Given the description of an element on the screen output the (x, y) to click on. 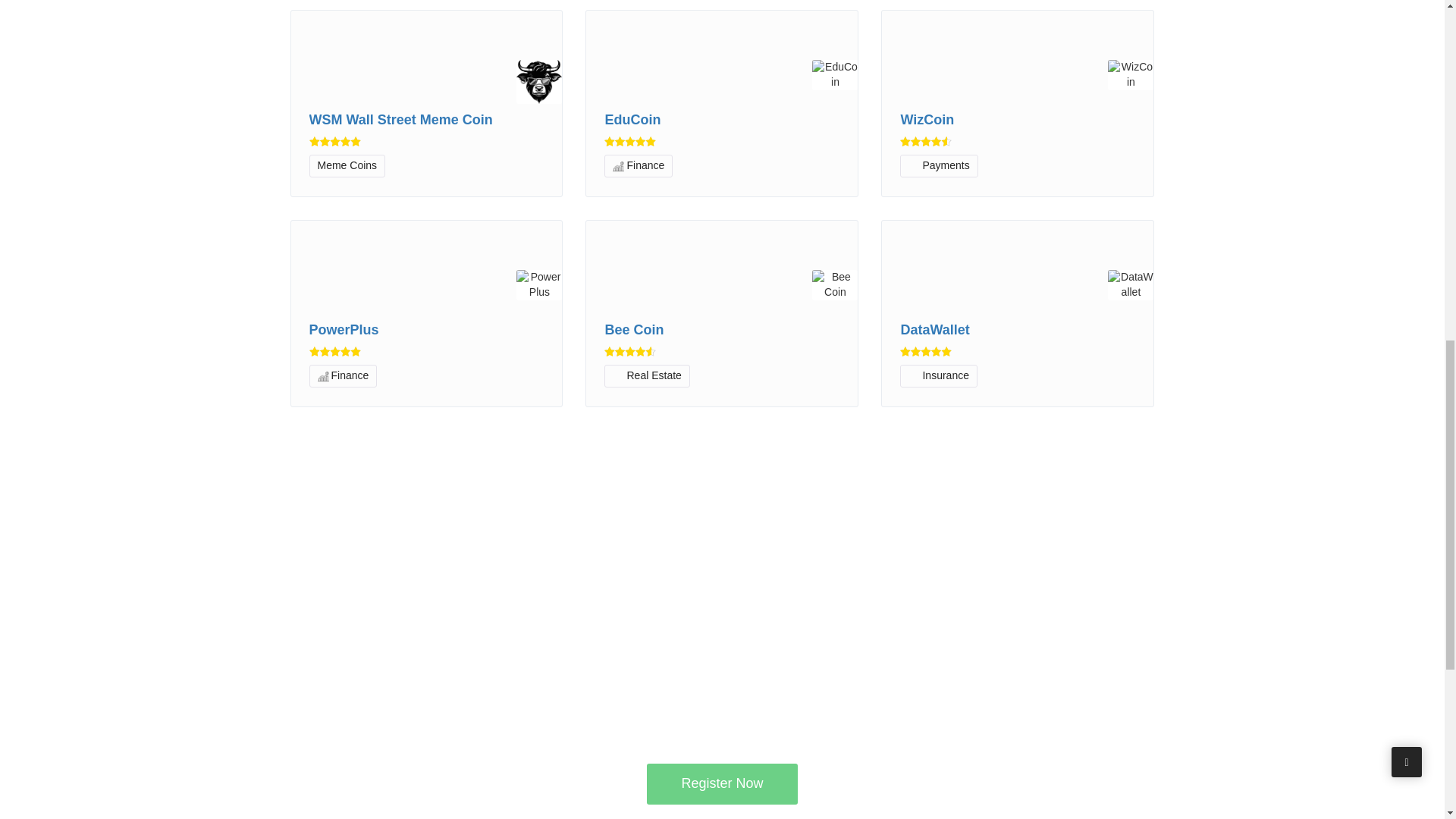
EduCoin (722, 120)
WizCoin (1017, 120)
WizCoin (1017, 120)
Register Now (721, 783)
WSM Wall Street Meme Coin (426, 120)
Bee Coin (722, 330)
DataWallet (1017, 330)
Bee Coin (722, 330)
PowerPlus (426, 330)
WSM Wall Street Meme Coin (426, 120)
EduCoin (722, 120)
PowerPlus (426, 330)
DataWallet (1017, 330)
